Given the description of an element on the screen output the (x, y) to click on. 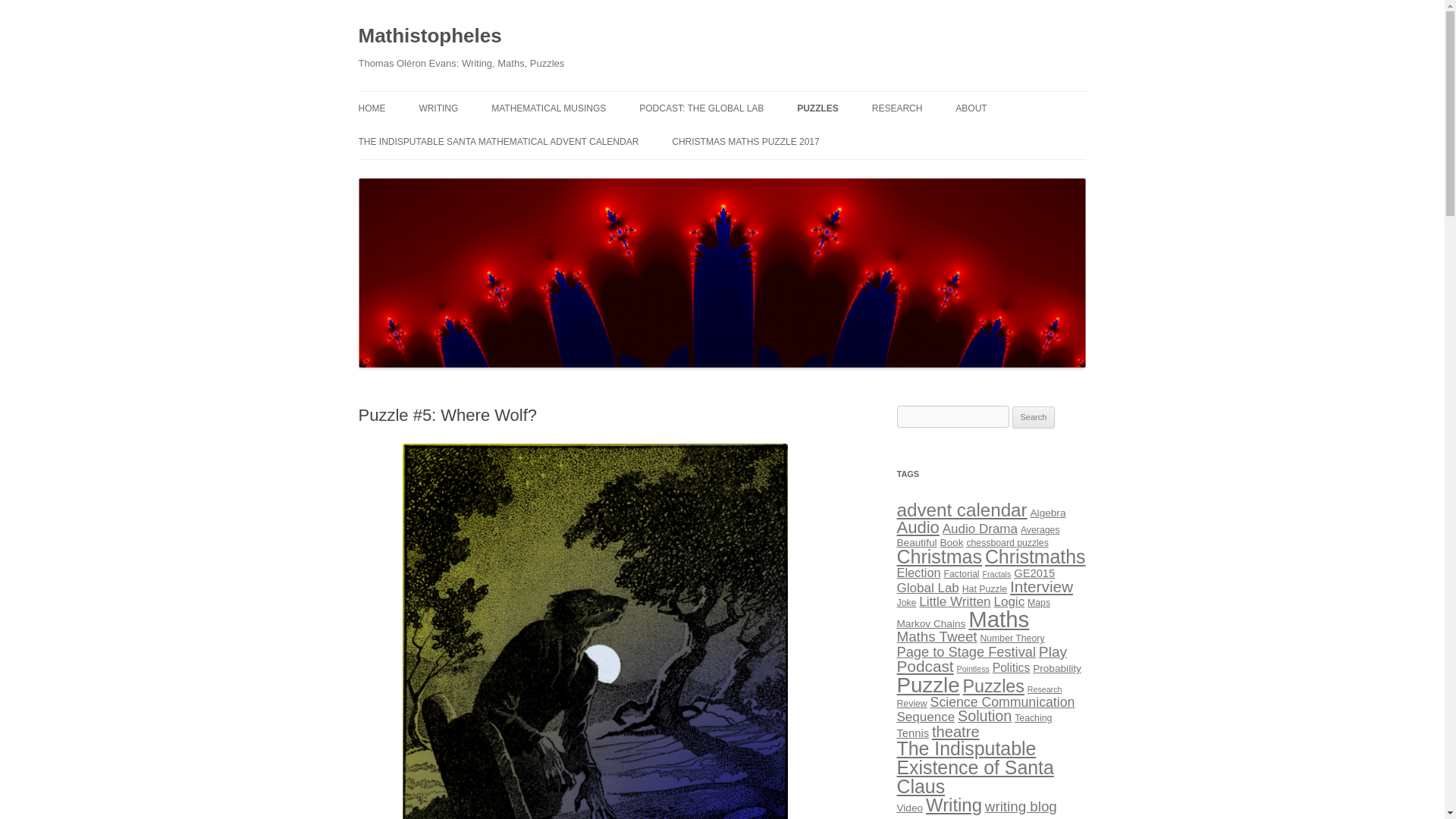
MATHEMATICAL MUSINGS (548, 108)
Search (1033, 417)
PODCAST: THE GLOBAL LAB (700, 108)
Mathistopheles (429, 36)
PUZZLES (817, 108)
WRITING (438, 108)
LITTLE WRITTEN PODCAST (494, 140)
